Given the description of an element on the screen output the (x, y) to click on. 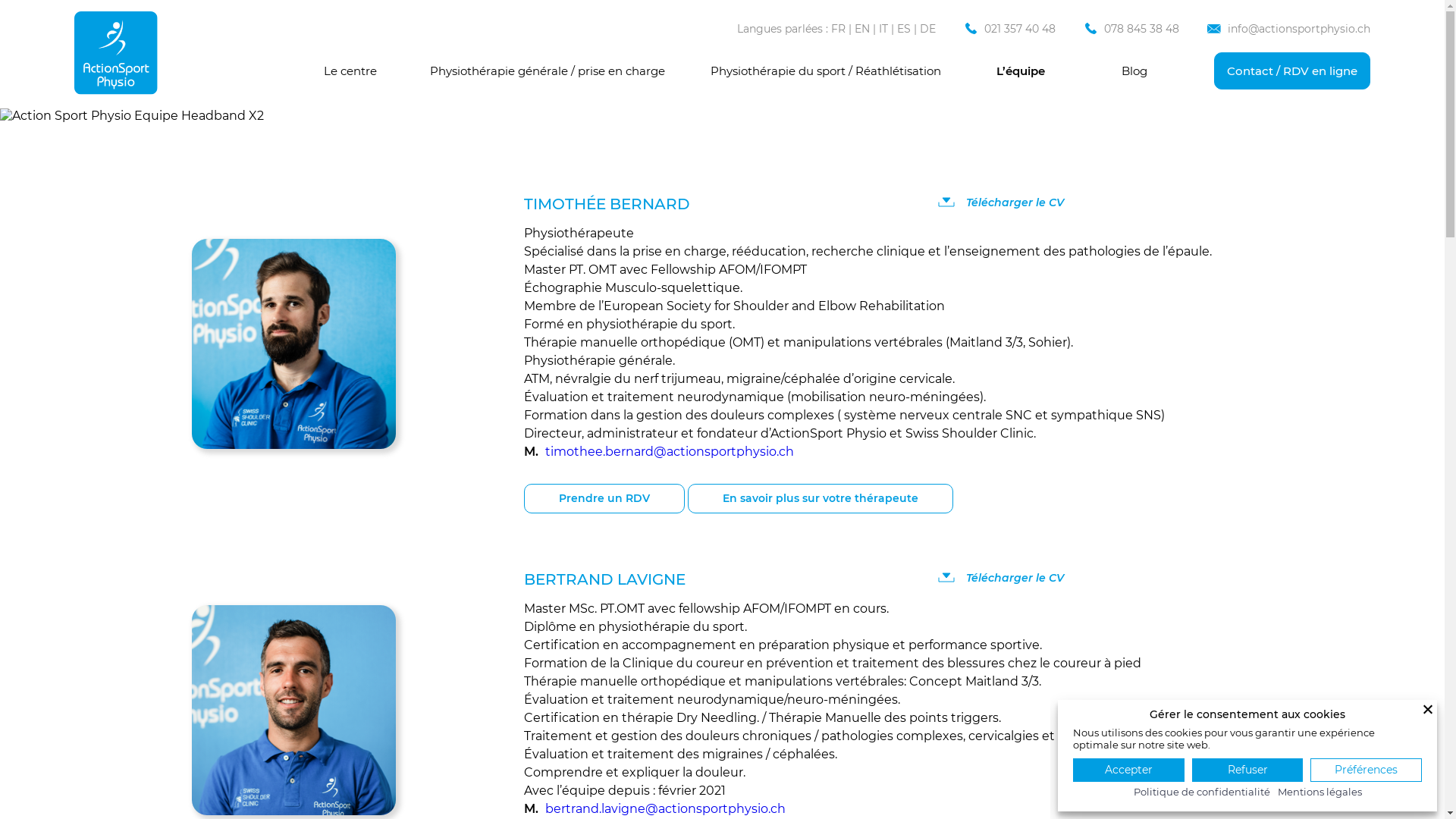
info@actionsportphysio.ch Element type: text (1297, 27)
timothee.bernard@actionsportphysio.ch Element type: text (669, 451)
Action Sport Physio Equipe Timothee Bernard X1 Element type: hover (296, 346)
Blog Element type: text (1134, 70)
Le mail du centre de physiotherapie ActionSport Physio Element type: hover (1213, 27)
bertrand.lavigne@actionsportphysio.ch Element type: text (665, 808)
Contact / RDV en ligne Element type: text (1292, 69)
078 845 38 48 Element type: text (1140, 27)
Le centre Element type: text (349, 70)
Action Sport Physio Equipe Headband X2 Element type: hover (131, 115)
021 357 40 48 Element type: text (1018, 27)
